Given the description of an element on the screen output the (x, y) to click on. 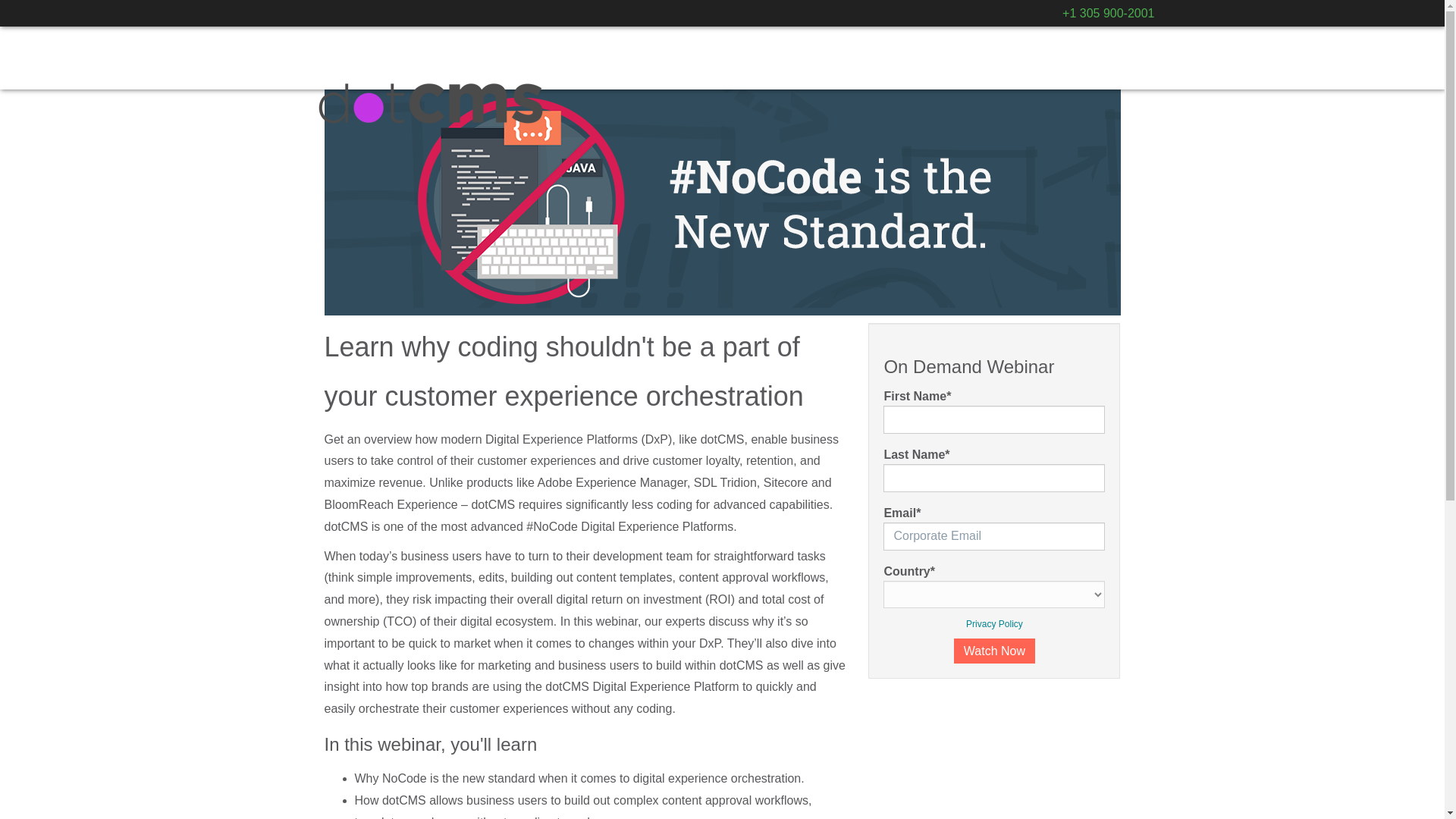
Privacy Policy (994, 624)
Watch Now (994, 650)
Watch Now (994, 650)
